Given the description of an element on the screen output the (x, y) to click on. 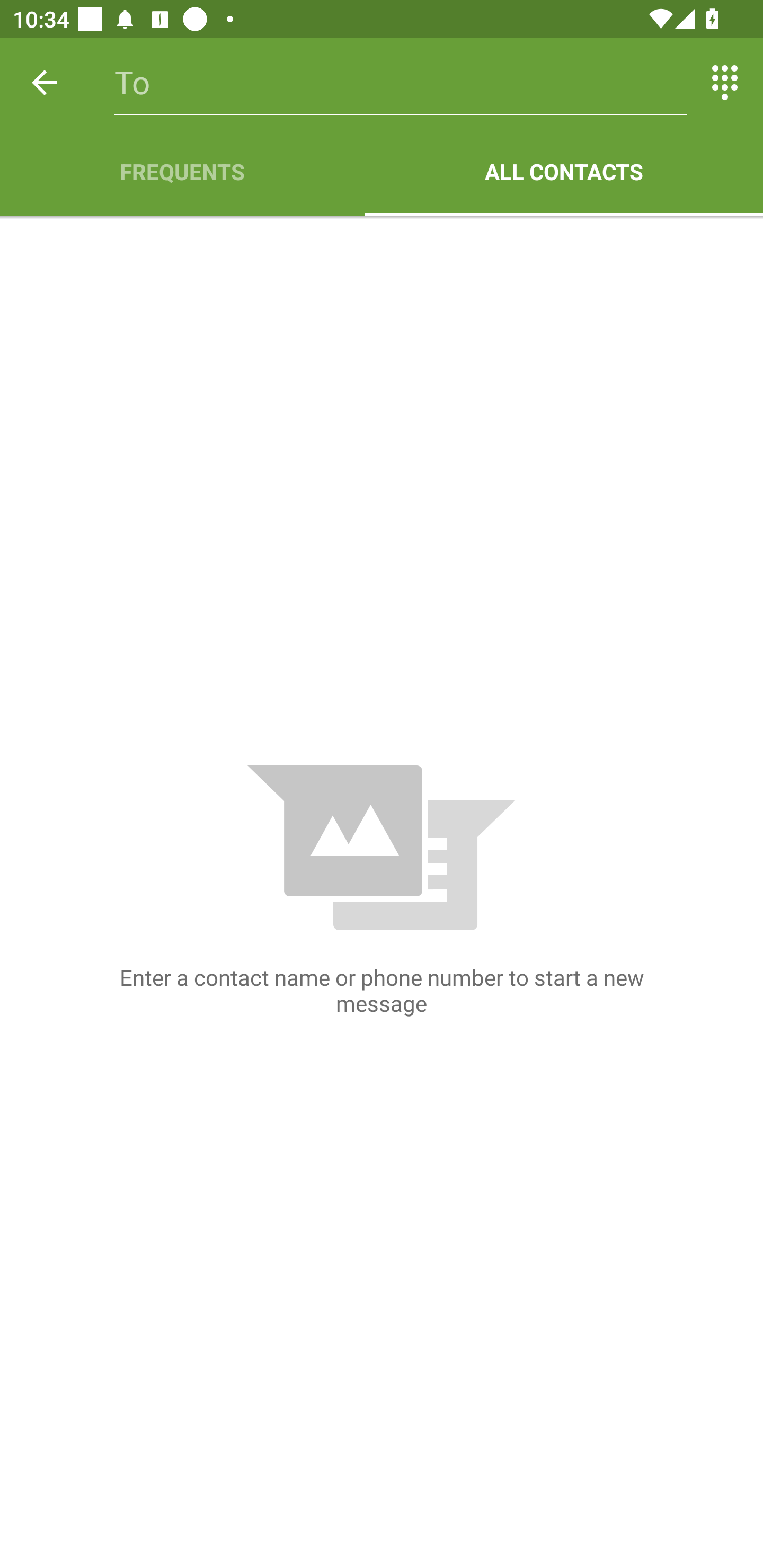
Back (44, 82)
Switch between entering text and numbers (724, 81)
To (400, 82)
FREQUENTS (182, 171)
ALL CONTACTS (563, 171)
